Given the description of an element on the screen output the (x, y) to click on. 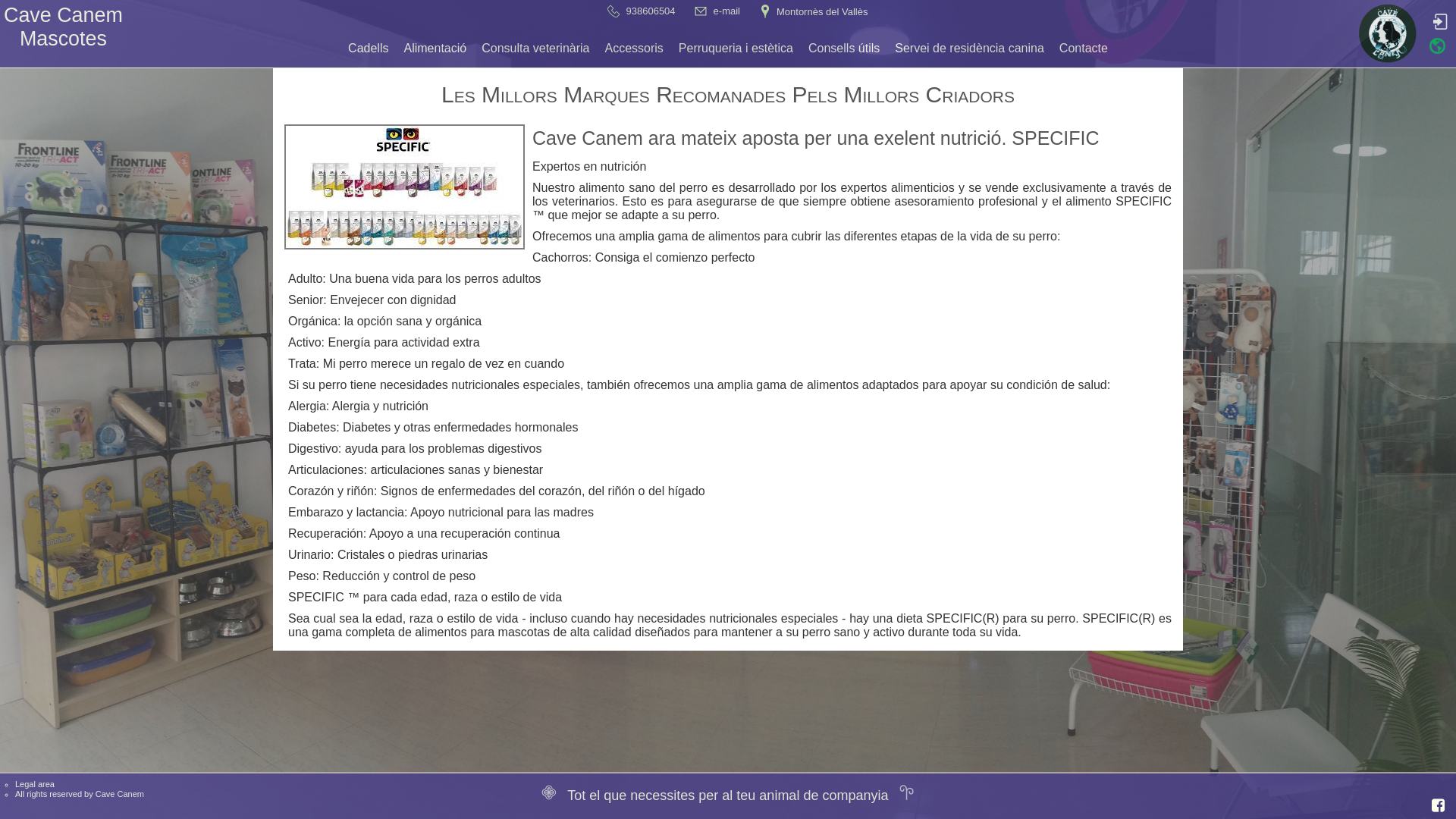
938606504 Element type: text (650, 10)
e-mail Element type: text (726, 10)
Contacte Element type: text (1083, 47)
Accessoris Element type: text (633, 47)
Cadells Element type: text (368, 47)
Facebook Element type: hover (1437, 804)
